Given the description of an element on the screen output the (x, y) to click on. 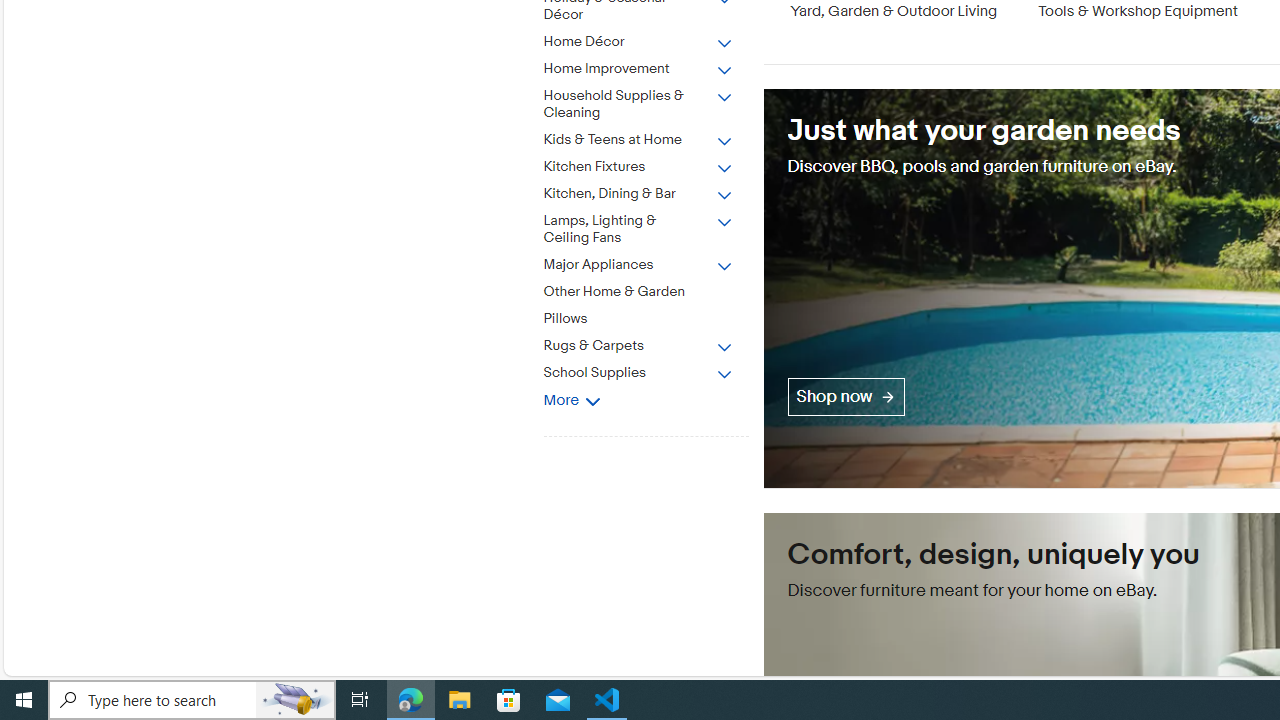
Lamps, Lighting & Ceiling Fans (637, 229)
Other Home & Garden (637, 291)
Other Home & Garden (653, 288)
Kitchen Fixtures (637, 167)
Shop now (846, 396)
Kitchen Fixtures (653, 163)
Household Supplies & Cleaning (637, 105)
Rugs & Carpets (637, 345)
Pillows (653, 315)
More View more categories (571, 399)
